Given the description of an element on the screen output the (x, y) to click on. 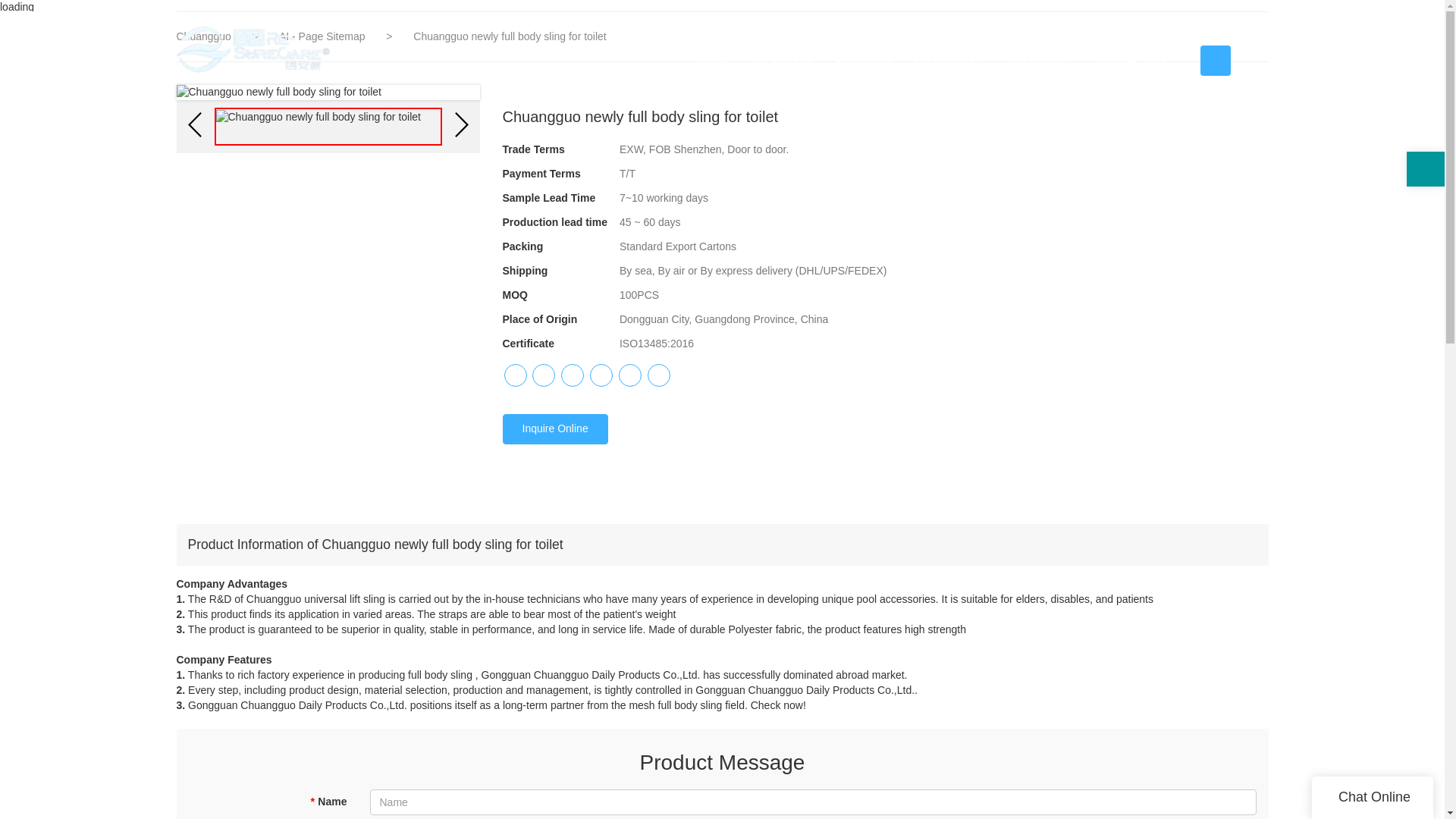
AI - Page Sitemap (323, 36)
Chuangguo (203, 36)
Inquire Online (554, 429)
HOME (717, 60)
CONTACT US (1131, 60)
PRODUCTS (948, 60)
Info Center (1040, 60)
ABOUT US (862, 60)
